Given the description of an element on the screen output the (x, y) to click on. 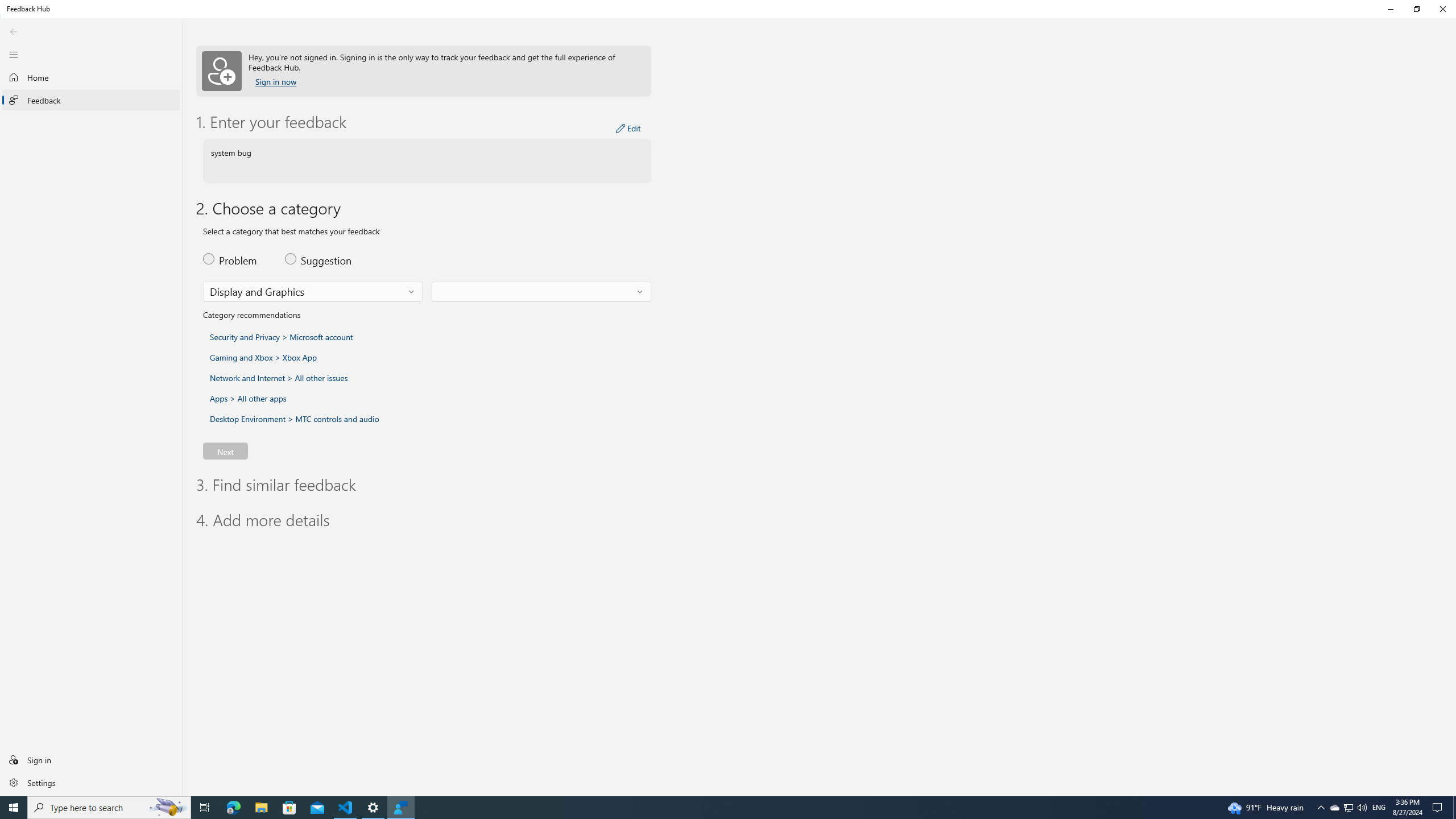
Vertical Small Decrease (1452, 49)
Vertical Large Increase (1452, 420)
Close Feedback Hub (1442, 9)
Feedback category (312, 291)
Edit your feedback details (627, 128)
Feedback type, Suggestion (319, 258)
